Given the description of an element on the screen output the (x, y) to click on. 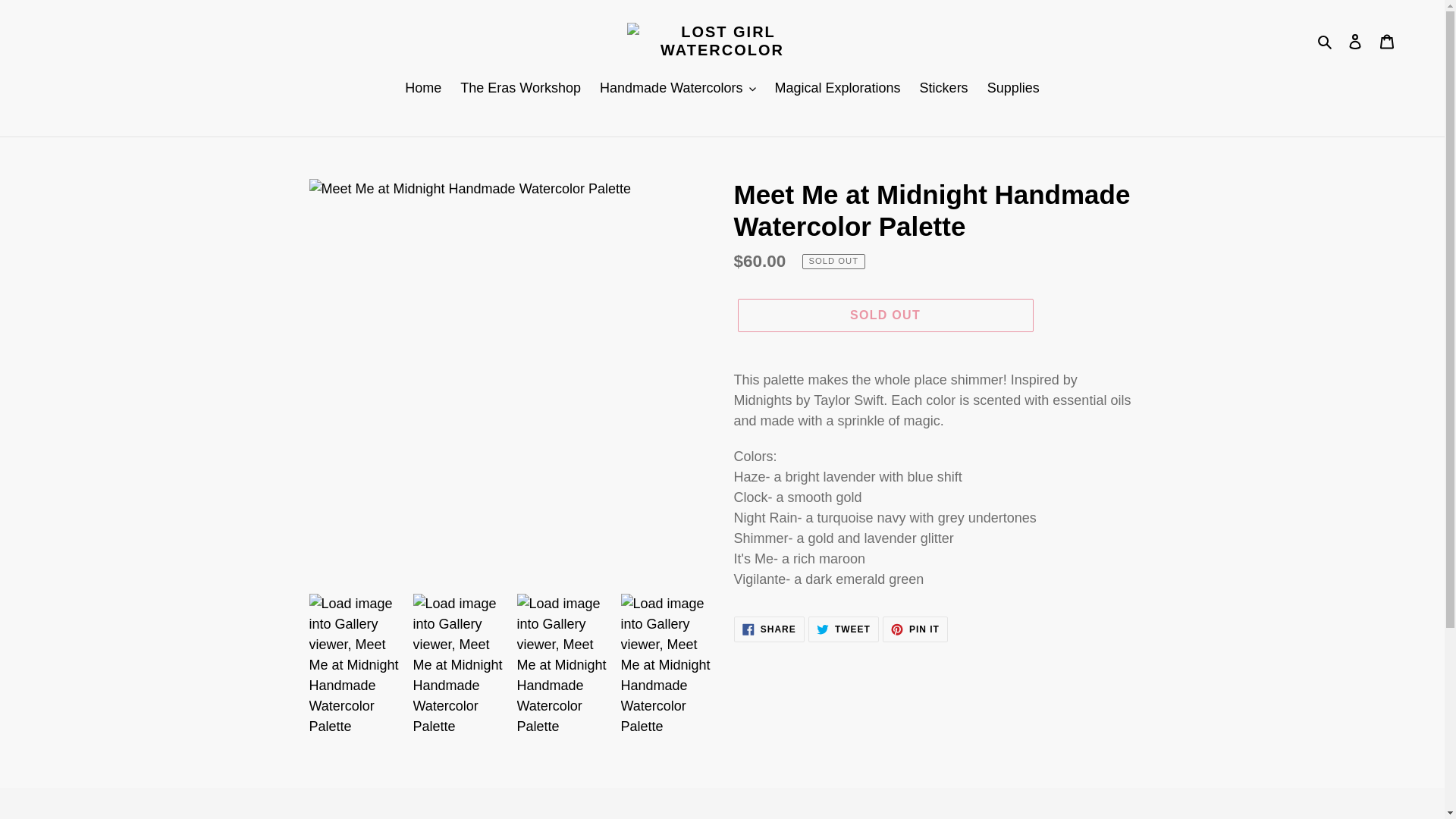
Cart (1387, 40)
Magical Explorations (837, 88)
Stickers (943, 88)
The Eras Workshop (520, 88)
Log in (1355, 40)
Handmade Watercolors (677, 88)
SOLD OUT (884, 315)
Supplies (1012, 88)
Search (1326, 41)
Home (422, 88)
